Given the description of an element on the screen output the (x, y) to click on. 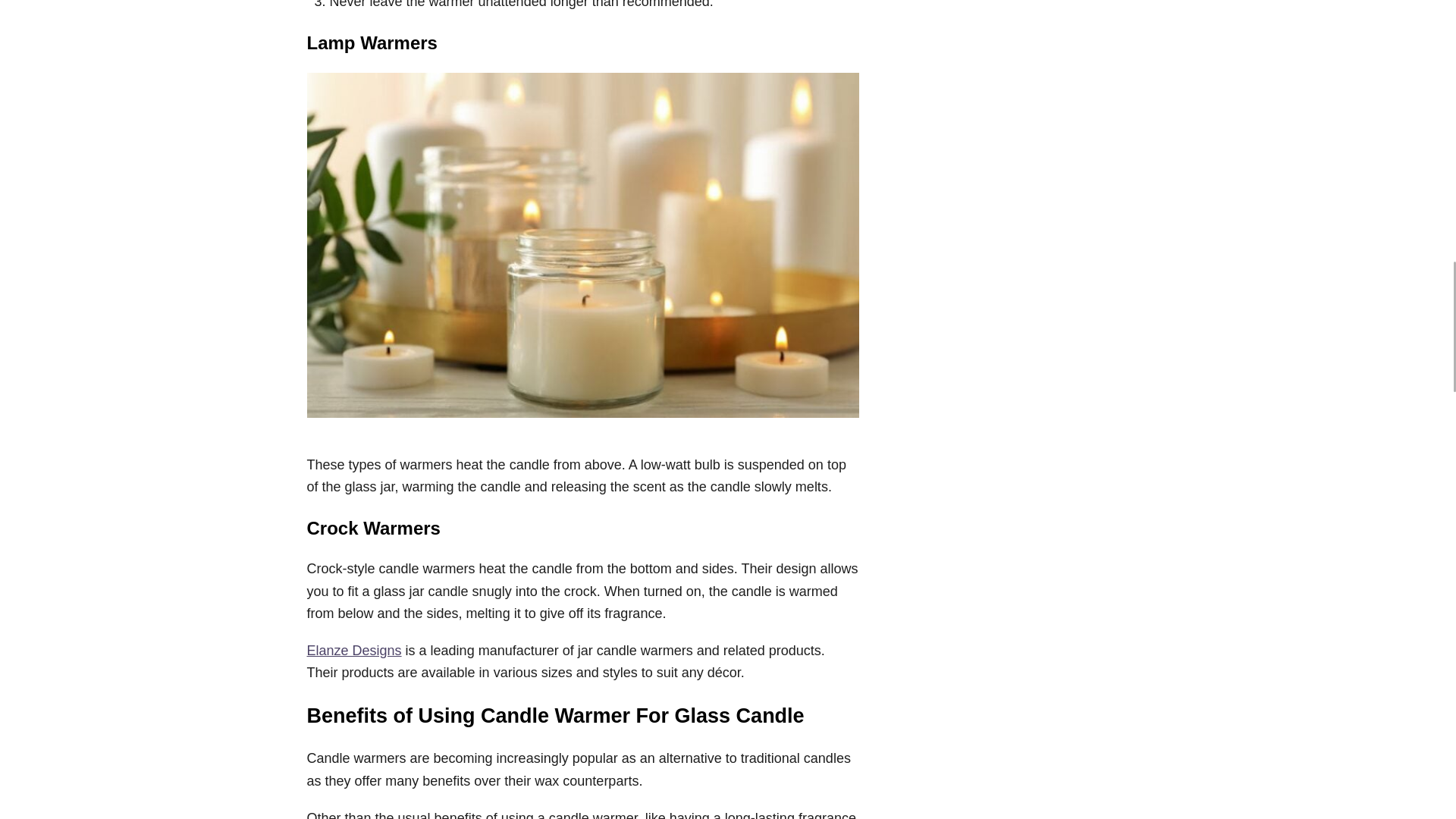
Elanze Designs (353, 650)
